Given the description of an element on the screen output the (x, y) to click on. 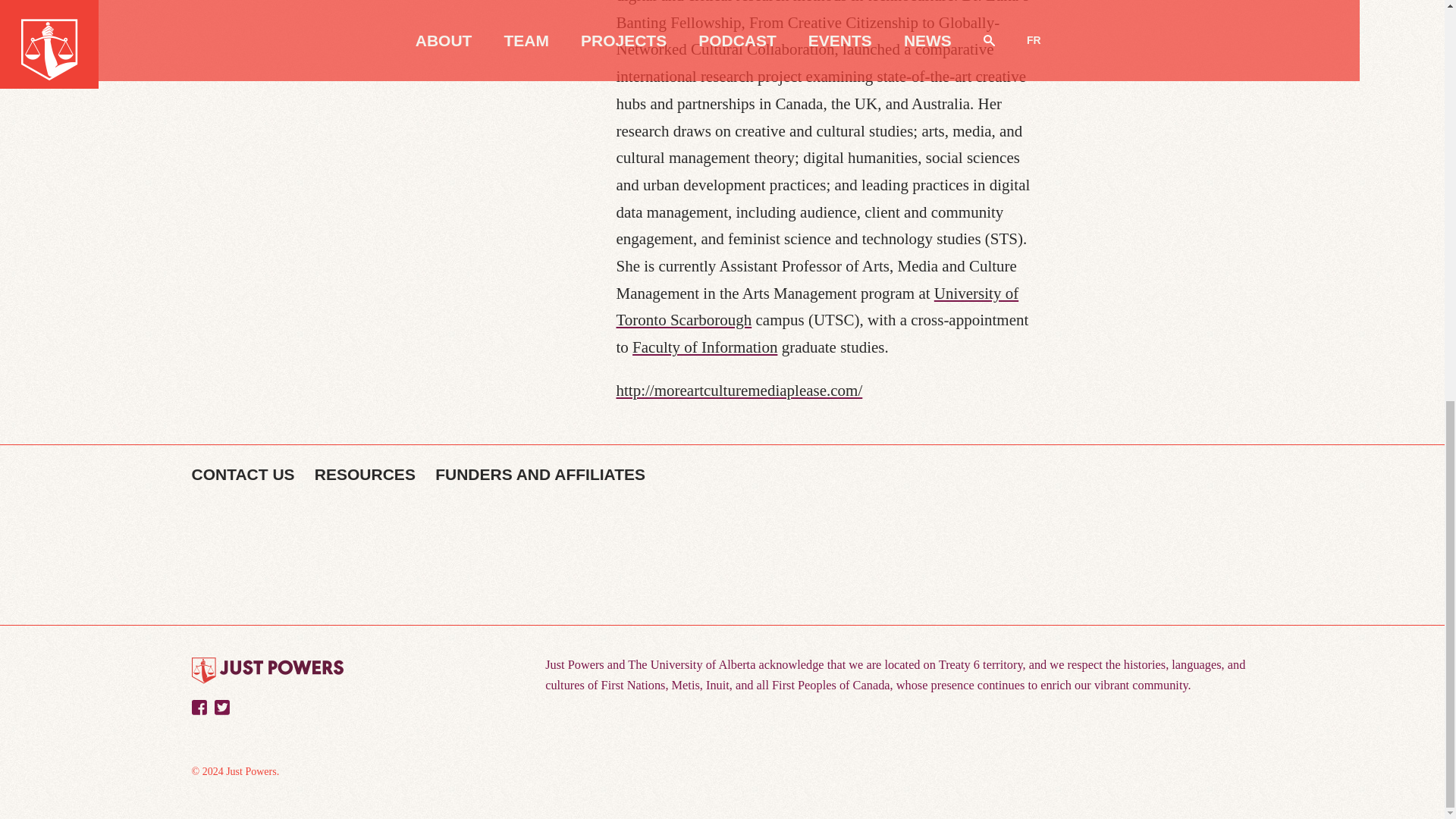
FUNDERS AND AFFILIATES (540, 474)
RESOURCES (364, 474)
Faculty of Information (704, 347)
CONTACT US (242, 474)
Facebook (198, 707)
University of Toronto Scarborough (816, 307)
Twitter (222, 707)
